Given the description of an element on the screen output the (x, y) to click on. 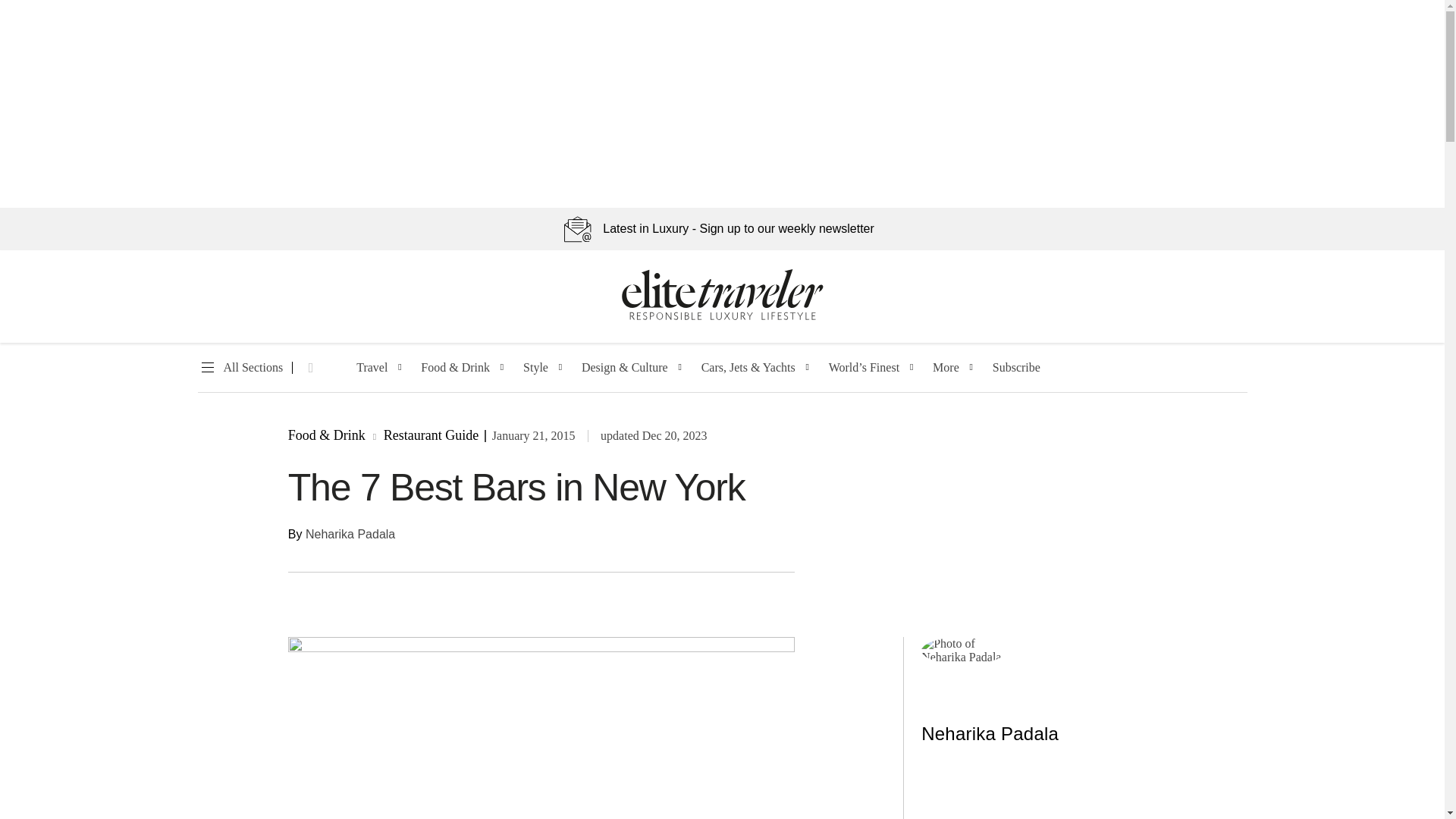
Elite Traveler (722, 317)
3rd party ad content (1034, 796)
3rd party ad content (1038, 519)
All Sections (239, 368)
Travel (371, 368)
